Given the description of an element on the screen output the (x, y) to click on. 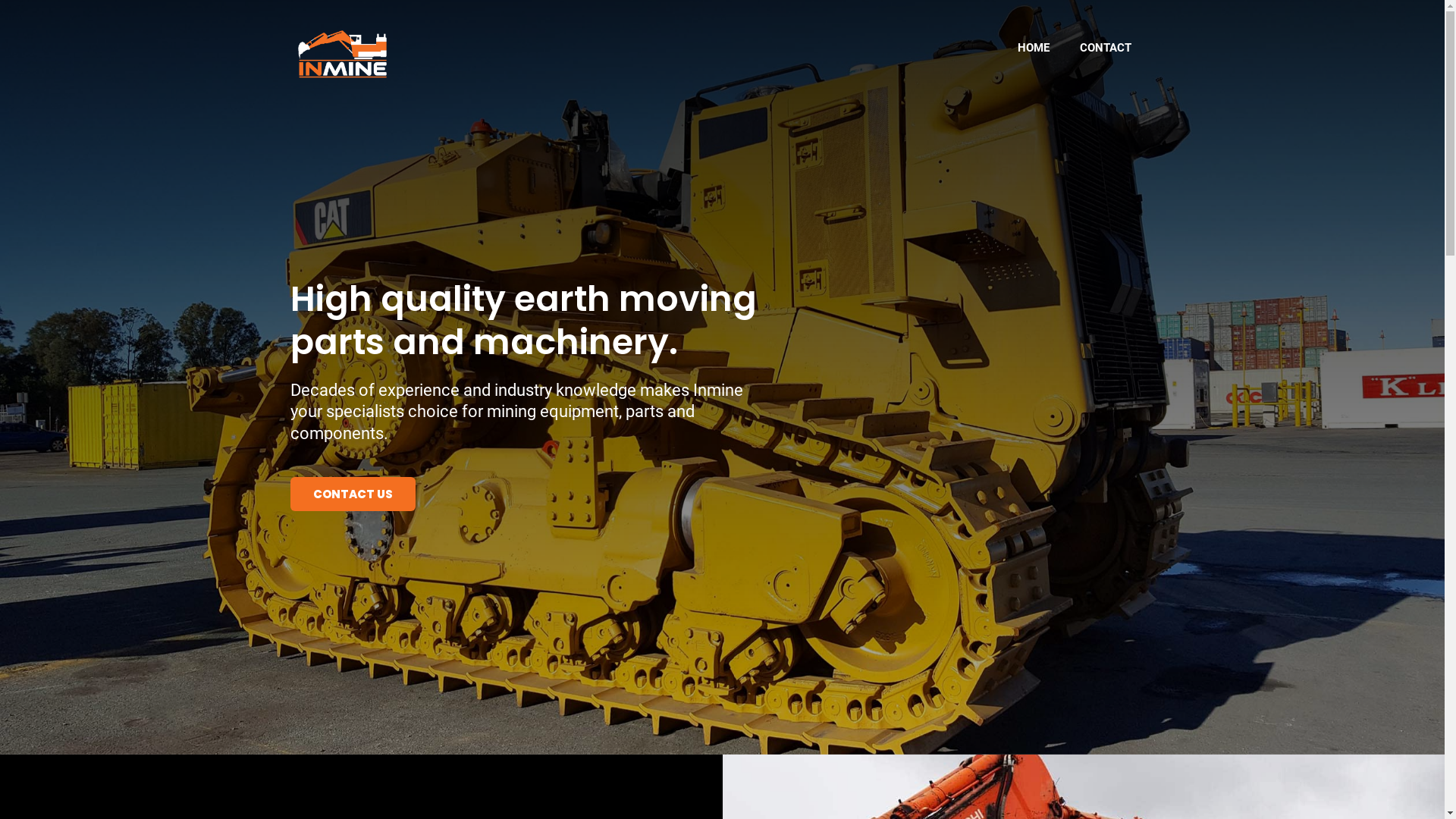
CONTACT US Element type: text (351, 493)
CONTACT Element type: text (1105, 47)
HOME Element type: text (1033, 47)
